Given the description of an element on the screen output the (x, y) to click on. 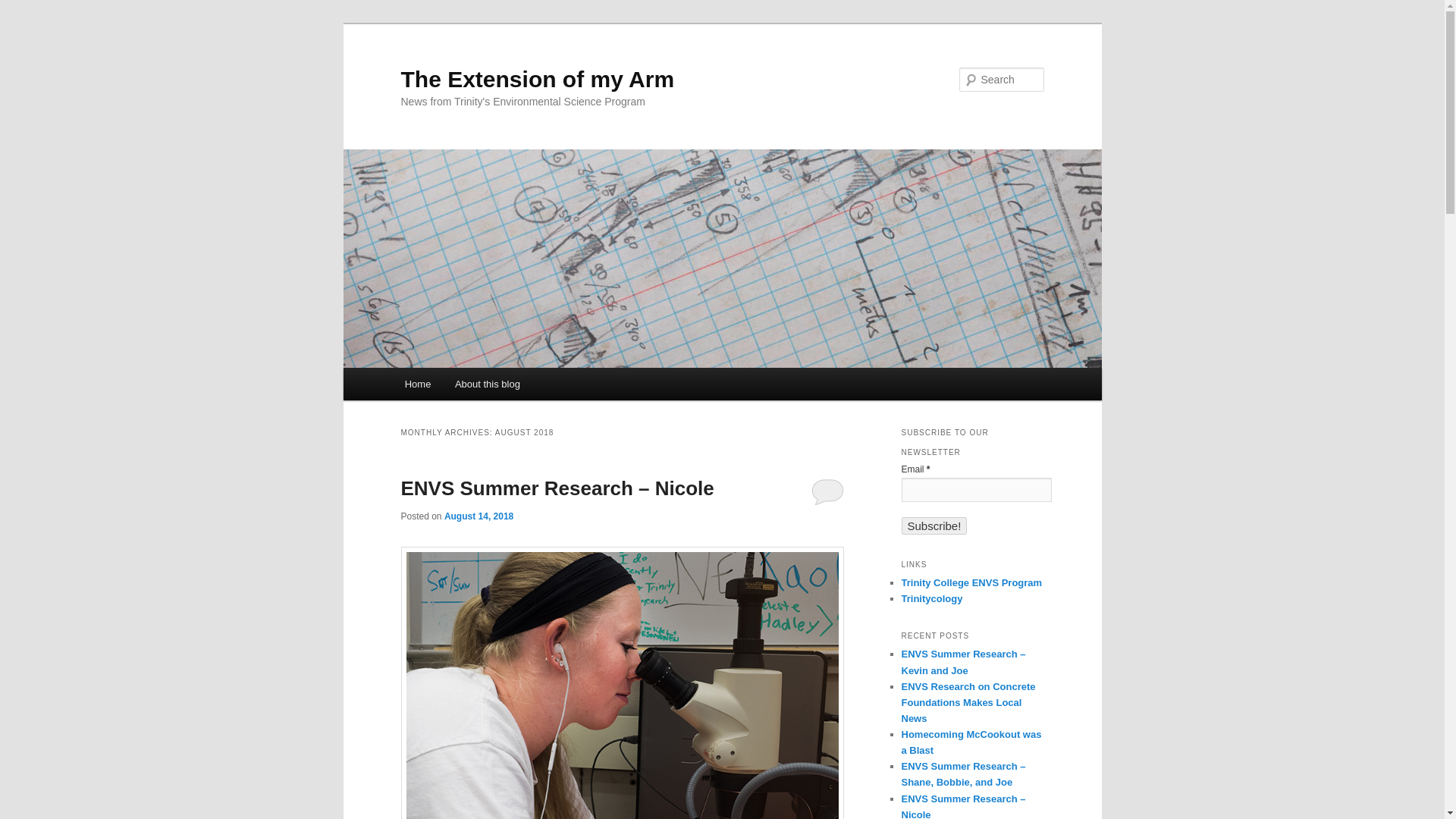
Email (976, 489)
5:55 pm (478, 516)
About this blog (487, 383)
Trinitycology (931, 598)
Homecoming McCookout was a Blast (971, 741)
Subscribe! (933, 525)
Trinity College ENVS Program (971, 582)
August 14, 2018 (478, 516)
Home (417, 383)
